Given the description of an element on the screen output the (x, y) to click on. 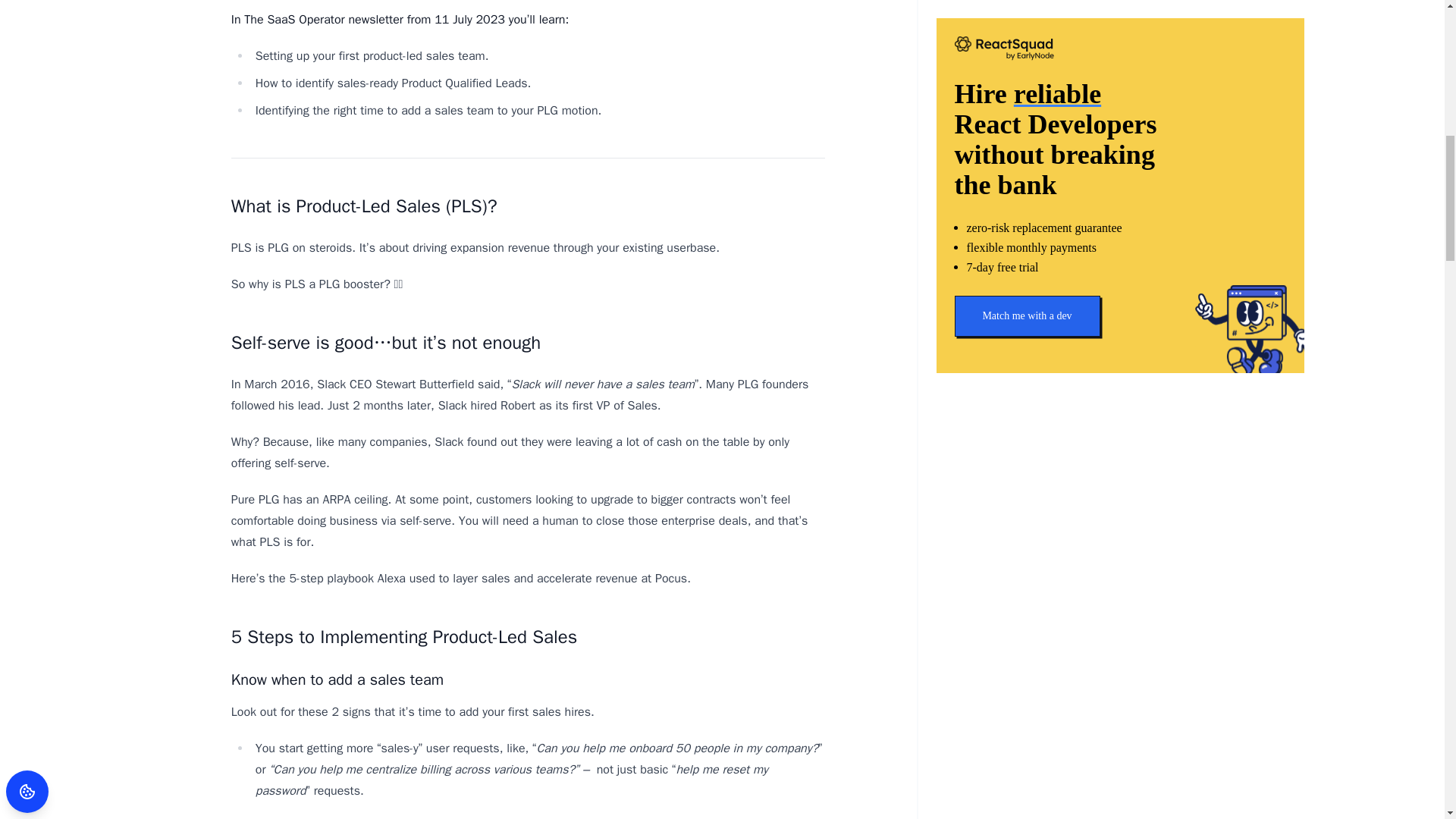
Match me with a dev (1119, 79)
Match me with a dev (1026, 82)
